Given the description of an element on the screen output the (x, y) to click on. 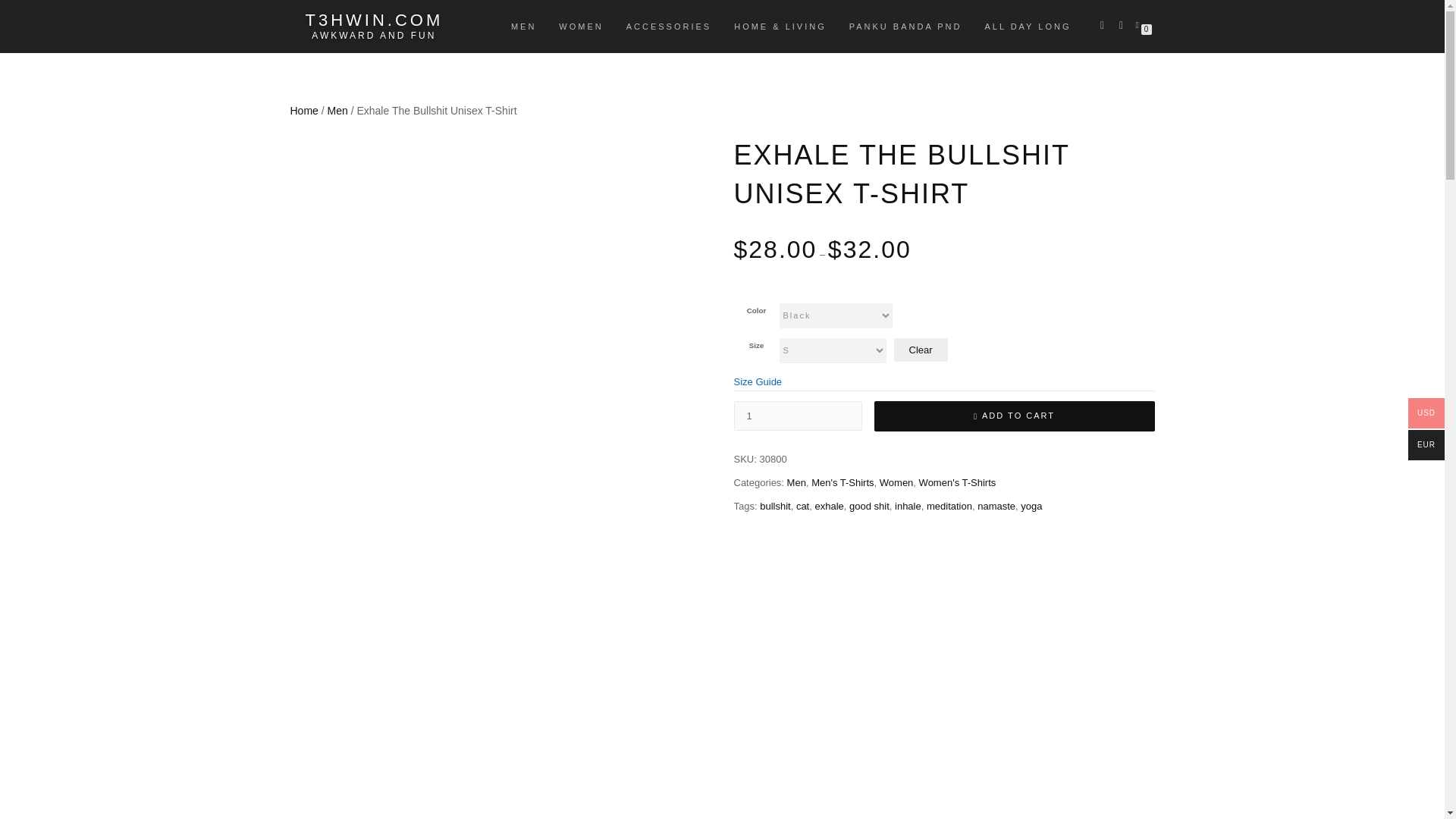
Women (896, 482)
ALL DAY LONG (1026, 26)
Home (303, 110)
PANKU BANDA PND (906, 26)
View your shopping cart (1139, 23)
WOMEN (580, 26)
Clear (920, 349)
Men (796, 482)
awkward and fun (373, 35)
T3HWIN.COM (373, 20)
